Given the description of an element on the screen output the (x, y) to click on. 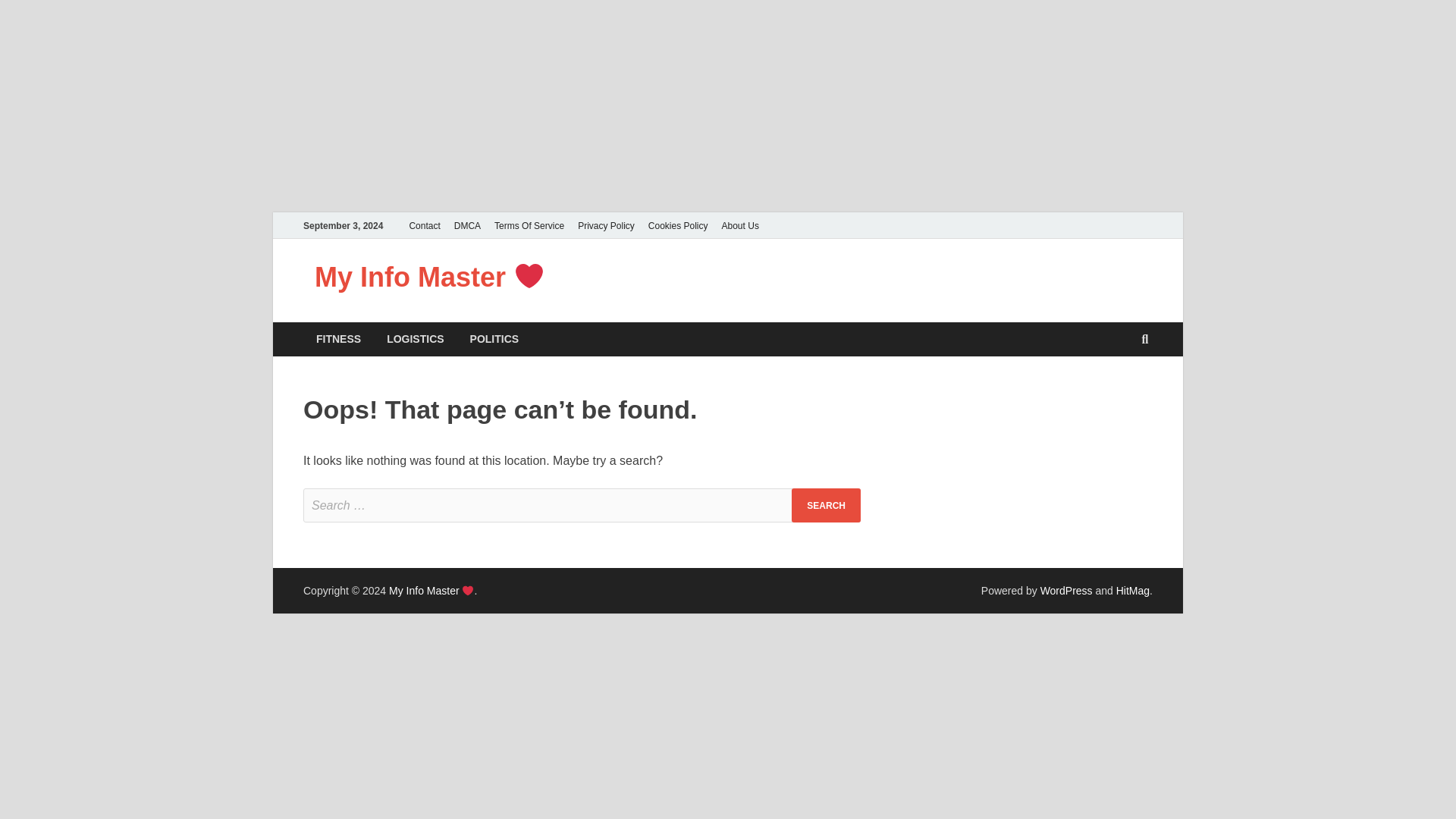
Search (826, 505)
Search (826, 505)
About Us (739, 225)
LOGISTICS (415, 339)
Privacy Policy (606, 225)
WordPress (1067, 590)
My Info Master (431, 590)
Terms Of Service (528, 225)
Cookies Policy (678, 225)
HitMag (1133, 590)
